Given the description of an element on the screen output the (x, y) to click on. 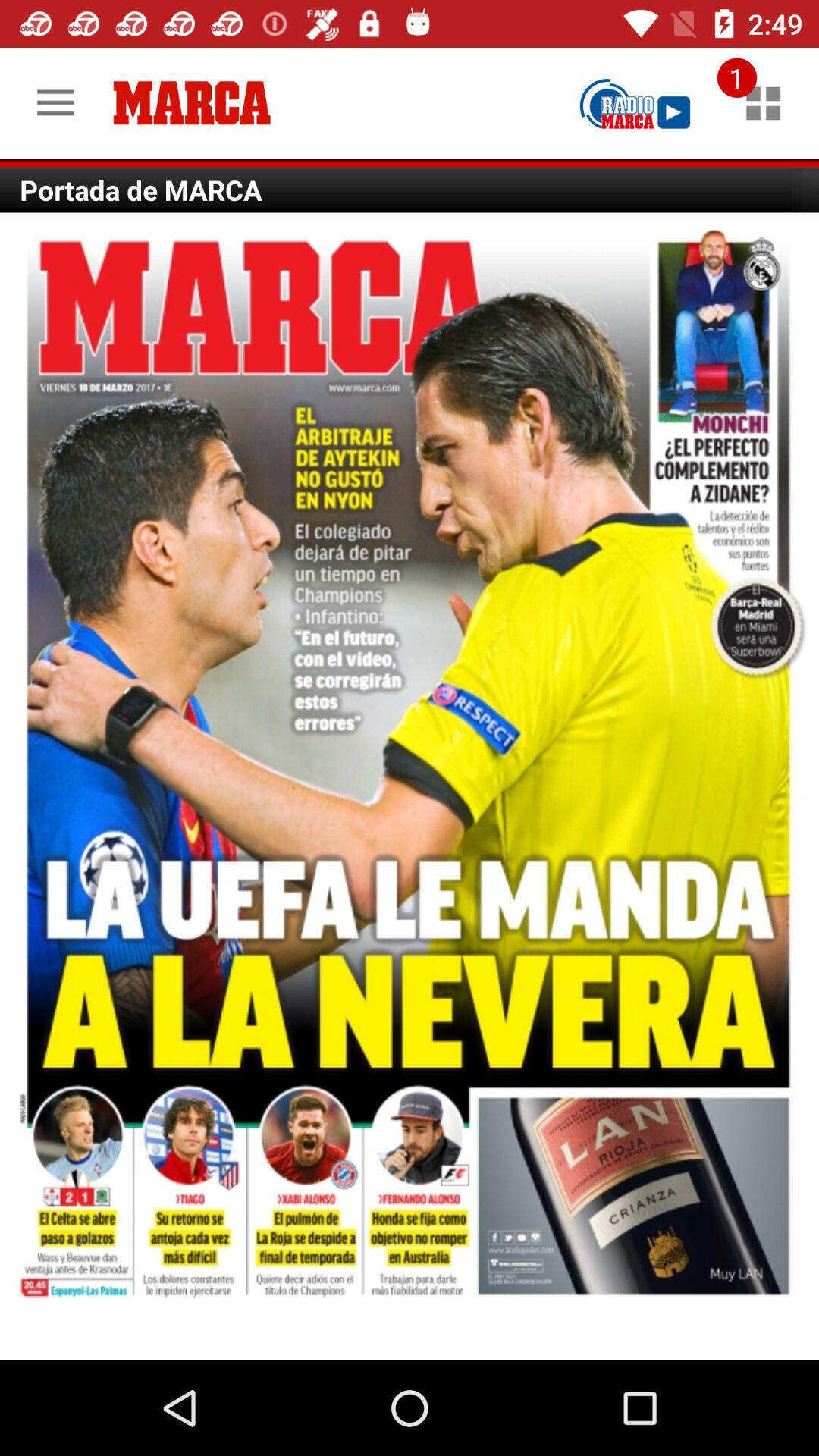
play radio (635, 103)
